Given the description of an element on the screen output the (x, y) to click on. 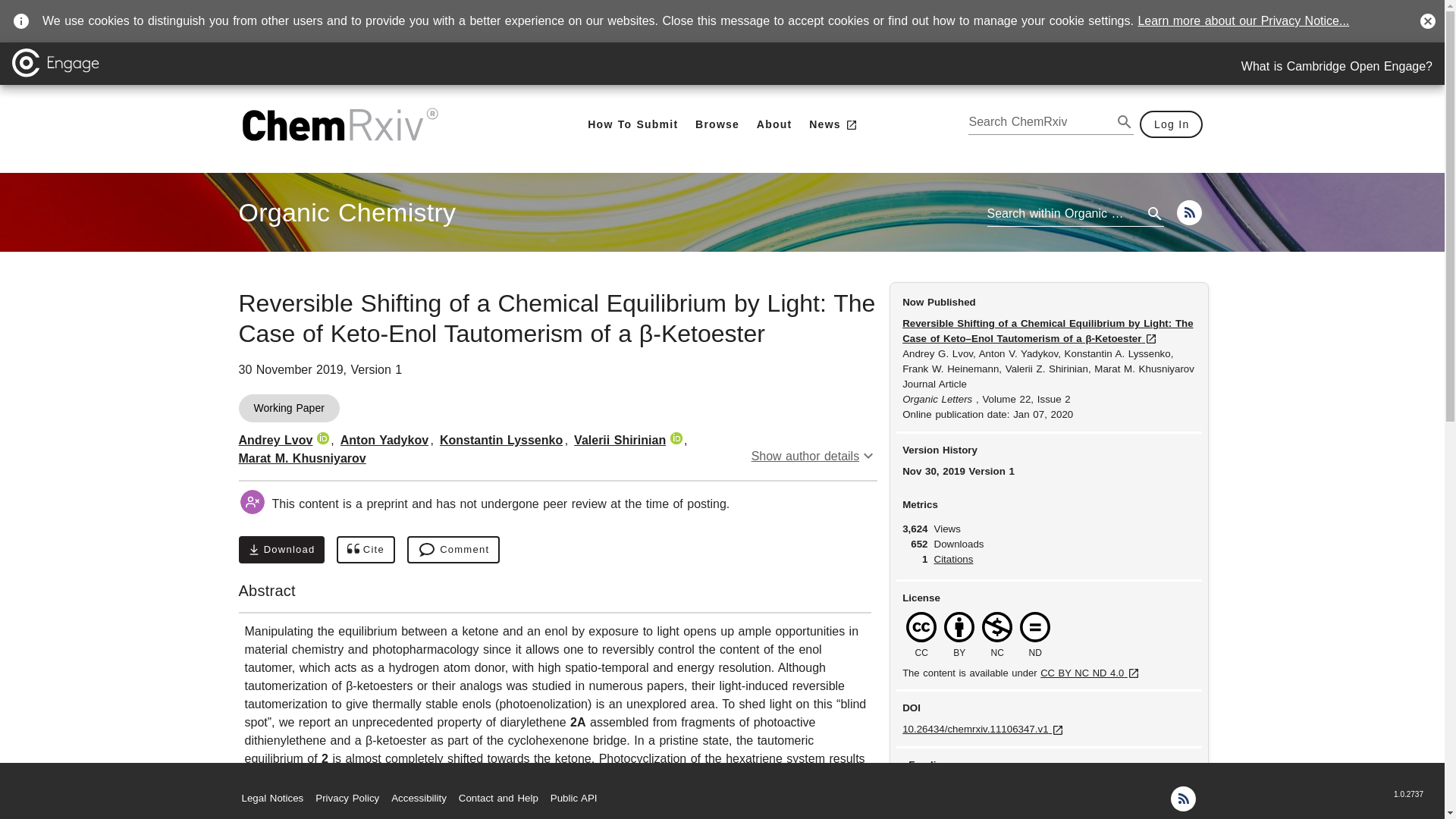
Anton Yadykov (384, 440)
Download (280, 549)
Cite (365, 549)
Andrey Lvov (275, 440)
Show author details (346, 212)
Konstantin Lyssenko (814, 455)
About (500, 440)
How To Submit (773, 124)
What is Cambridge Open Engage? (632, 124)
